Given the description of an element on the screen output the (x, y) to click on. 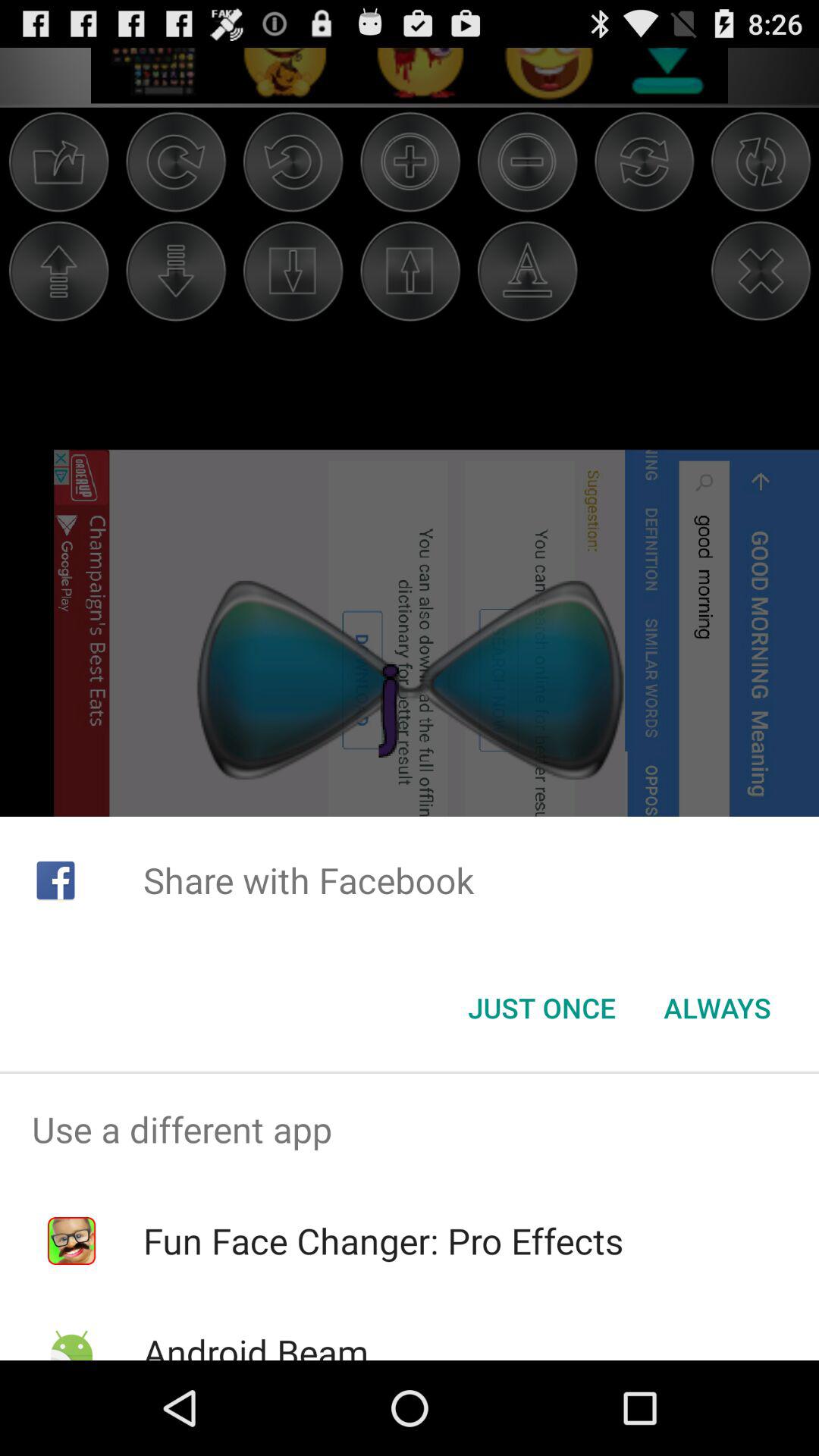
click item above the fun face changer (409, 1129)
